Given the description of an element on the screen output the (x, y) to click on. 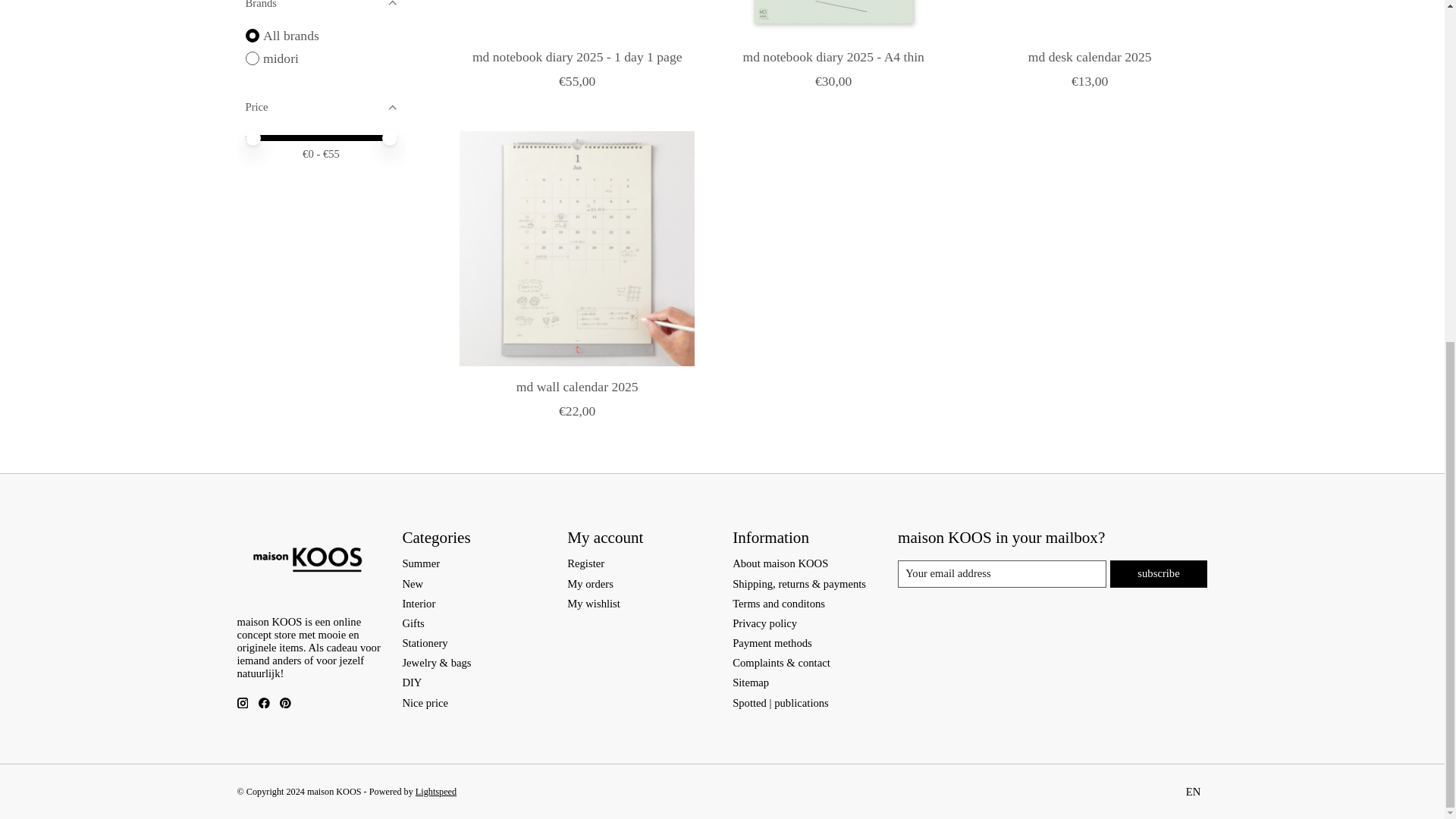
55 (321, 135)
midori md  notebook diary 2025 - 1 day 1 page (577, 18)
midori md  wall calendar 2025 (577, 248)
midori md  desk calendar 2025 (1089, 18)
0 (321, 135)
midori md  notebook diary 2025 - A4 thin (833, 18)
